Given the description of an element on the screen output the (x, y) to click on. 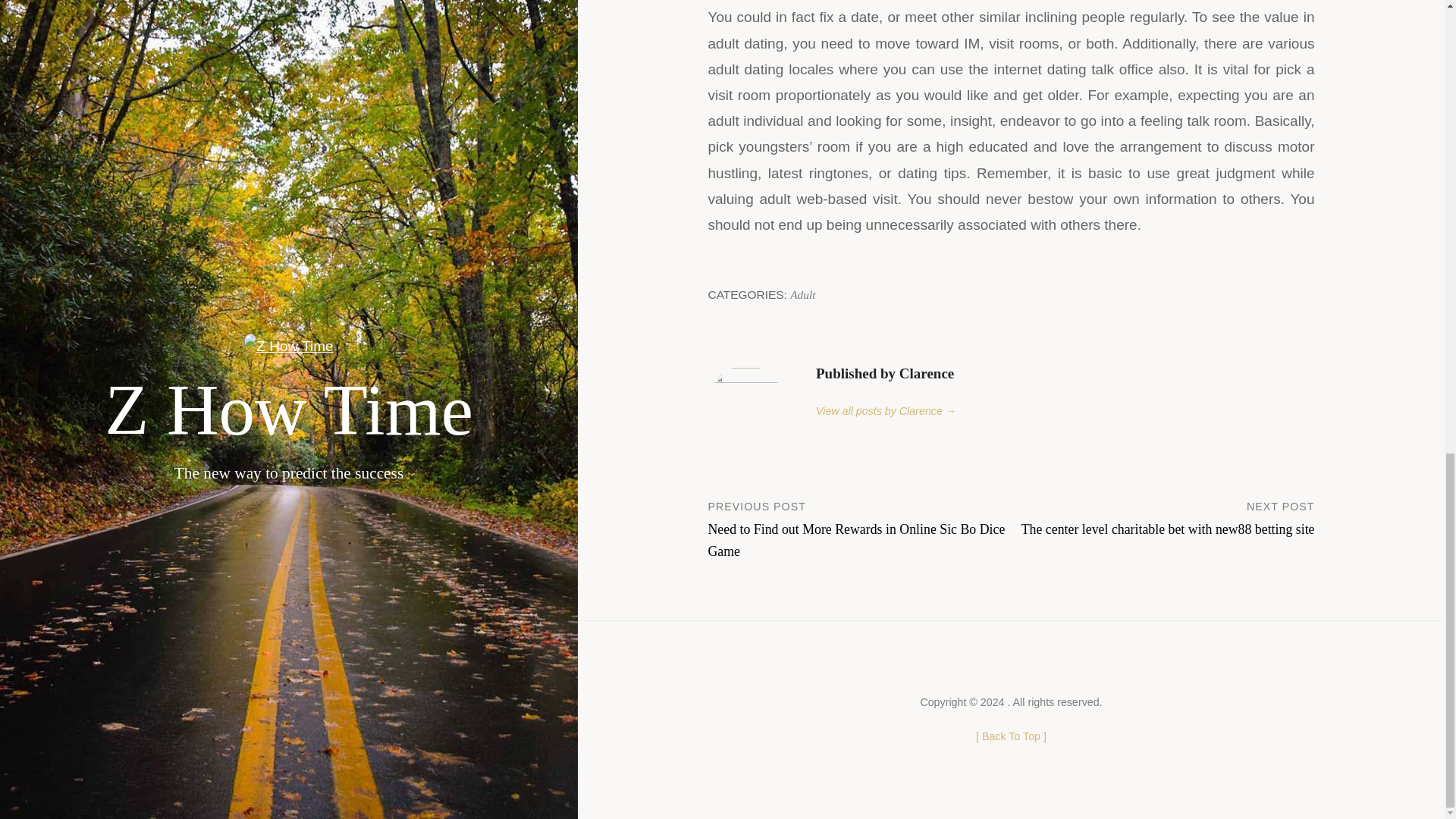
Adult (802, 294)
Back To Top (1010, 736)
